Given the description of an element on the screen output the (x, y) to click on. 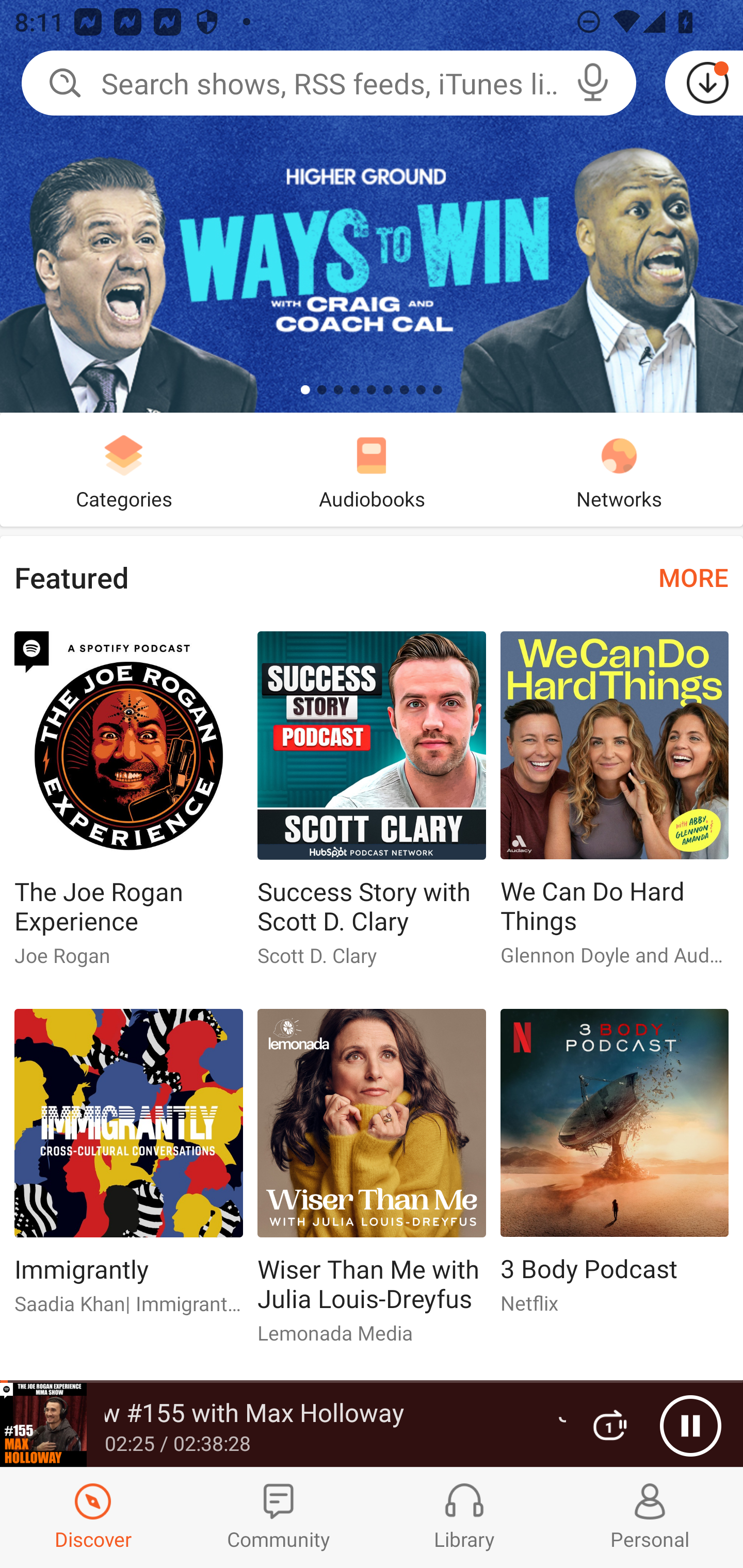
Ways To Win (371, 206)
Categories (123, 469)
Audiobooks (371, 469)
Networks (619, 469)
MORE (693, 576)
3 Body Podcast 3 Body Podcast Netflix (614, 1169)
Pause (690, 1425)
Discover (92, 1517)
Community (278, 1517)
